Given the description of an element on the screen output the (x, y) to click on. 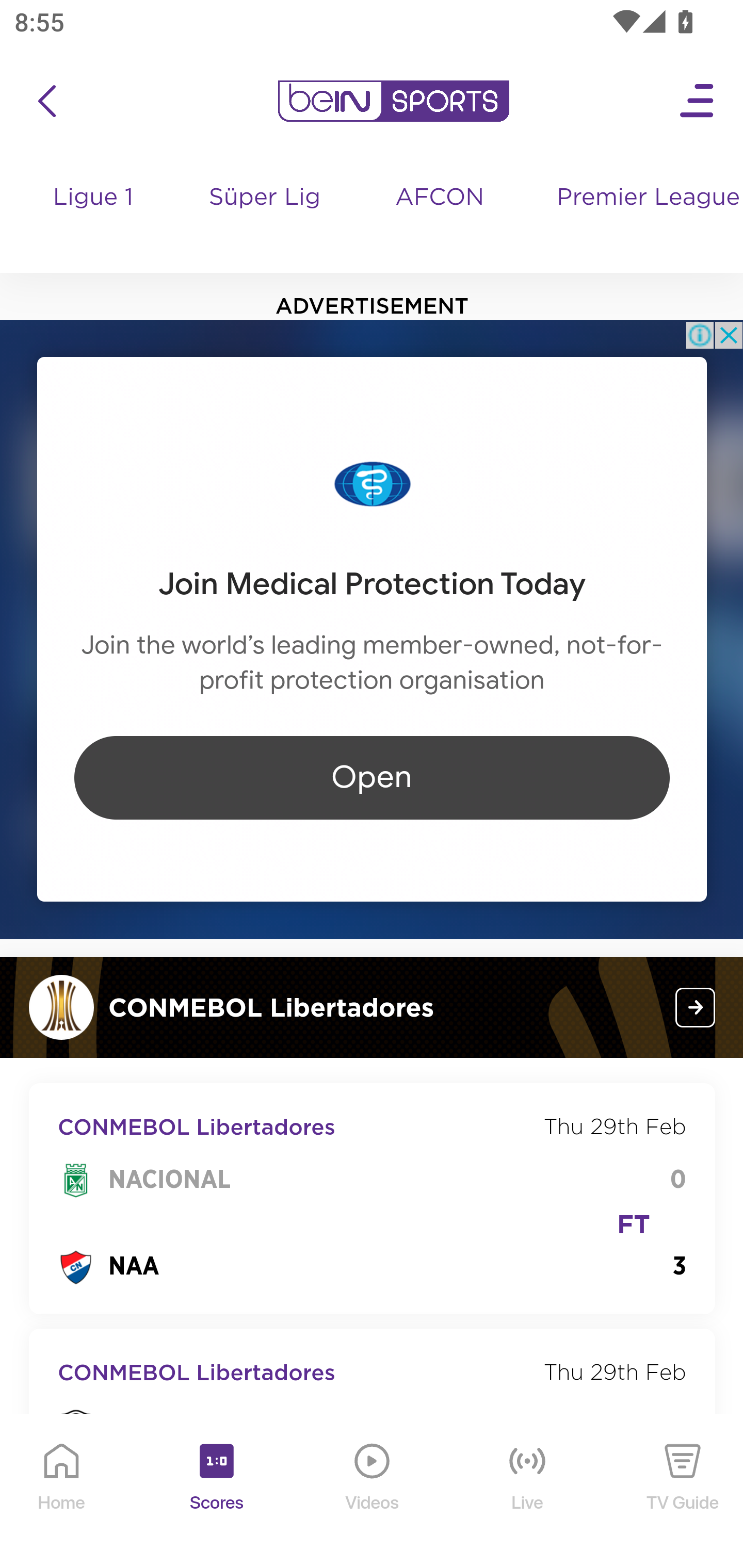
en-us?platform=mobile_android bein logo (392, 101)
icon back (46, 101)
Open Menu Icon (697, 101)
Ligue 1 (94, 216)
Süper Lig (265, 216)
AFCON (439, 198)
Premier League (642, 198)
Join Medical Protection Today (371, 583)
Open (371, 777)
conmebol-libertadores?platform=mobile_android (695, 1007)
Home Home Icon Home (61, 1491)
Scores Scores Icon Scores (216, 1491)
Videos Videos Icon Videos (372, 1491)
TV Guide TV Guide Icon TV Guide (682, 1491)
